Given the description of an element on the screen output the (x, y) to click on. 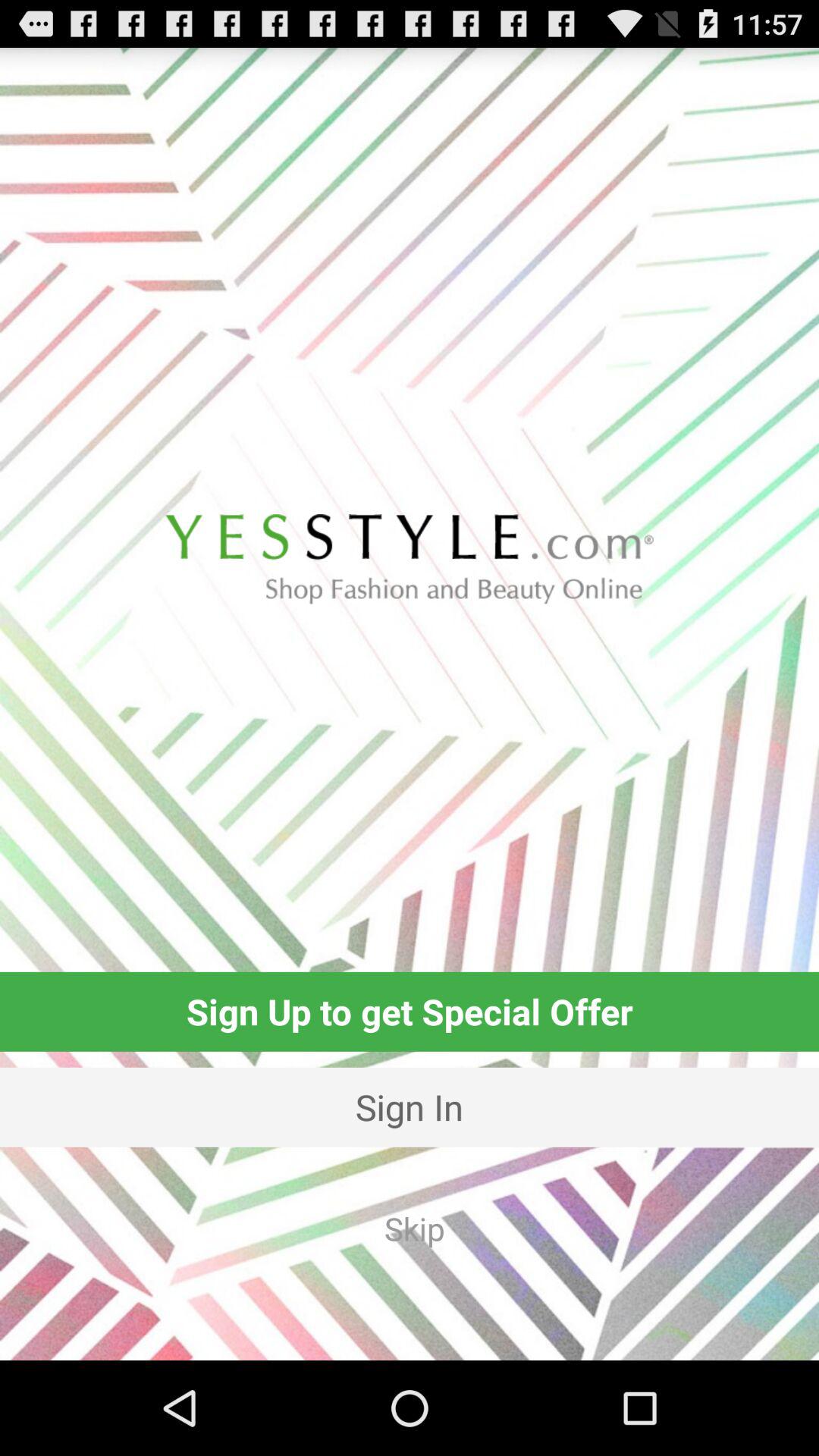
jump until the sign up to (409, 1011)
